Given the description of an element on the screen output the (x, y) to click on. 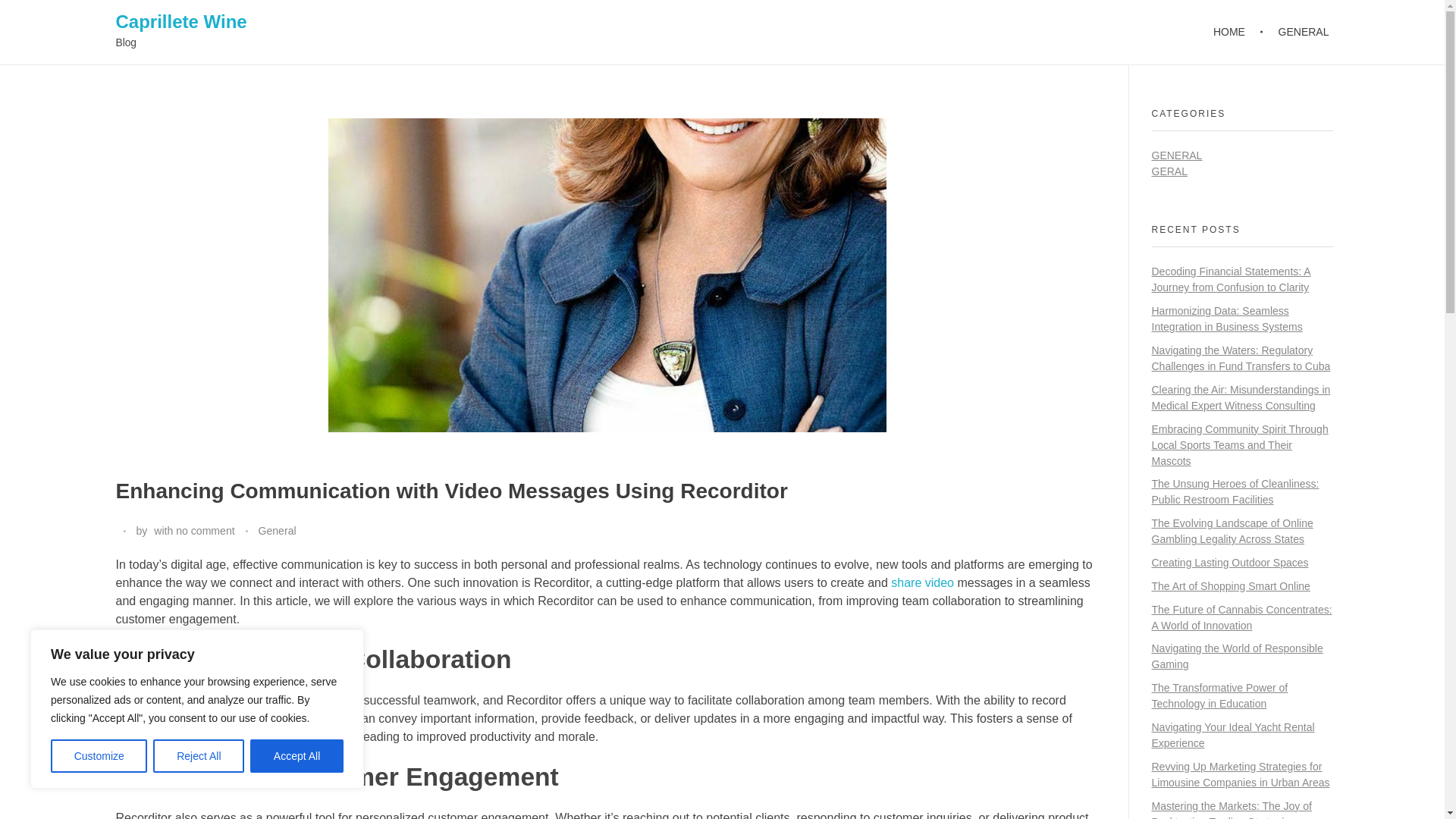
View all posts in General (276, 530)
Caprillete Wine (180, 21)
Customize (98, 756)
Reject All (198, 756)
GERAL (1168, 171)
Harmonizing Data: Seamless Integration in Business Systems (1226, 318)
share video (922, 582)
